Given the description of an element on the screen output the (x, y) to click on. 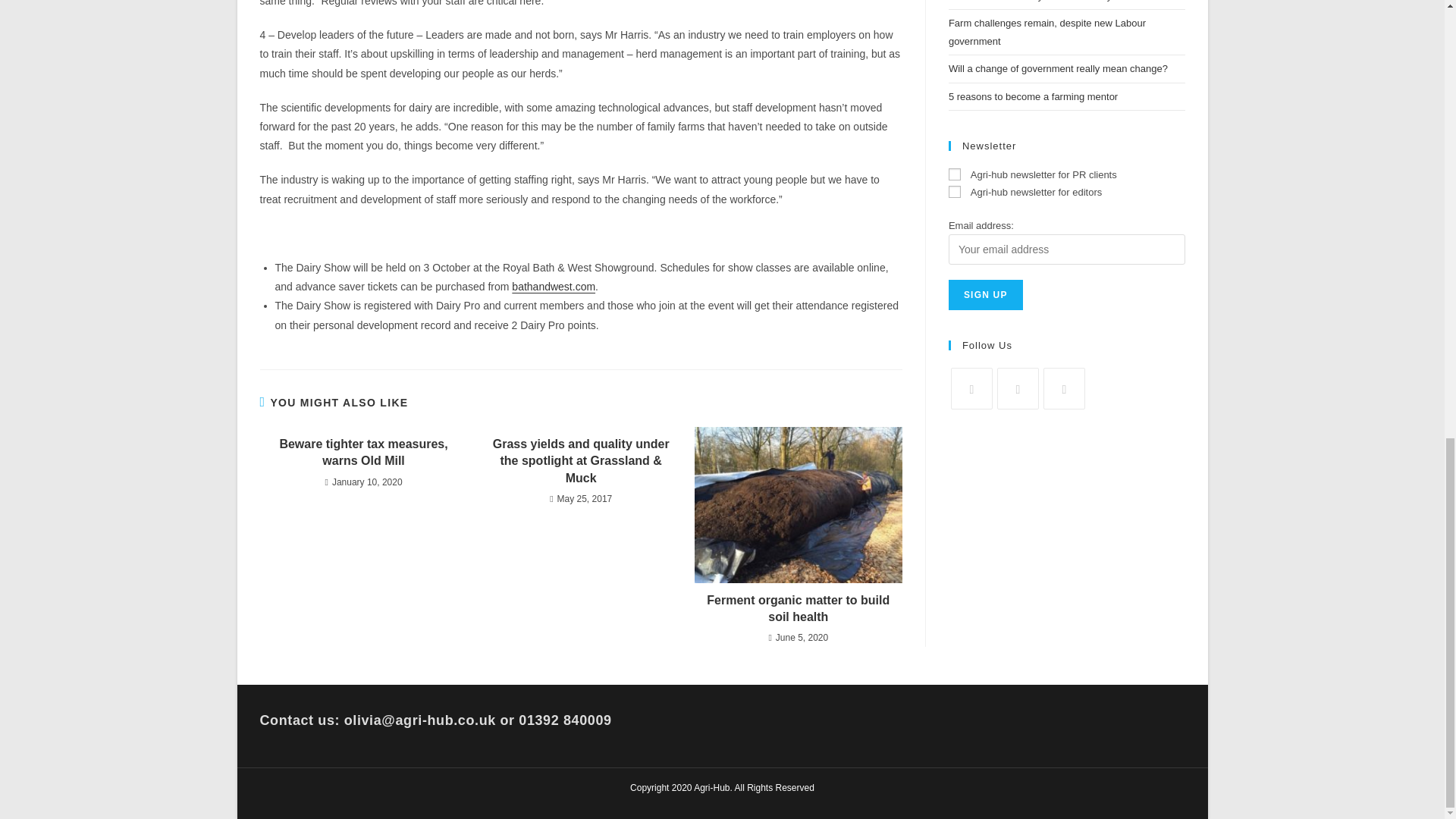
e2fcf9ae63 (954, 174)
2a5121b343 (954, 191)
Sign up (986, 295)
